Given the description of an element on the screen output the (x, y) to click on. 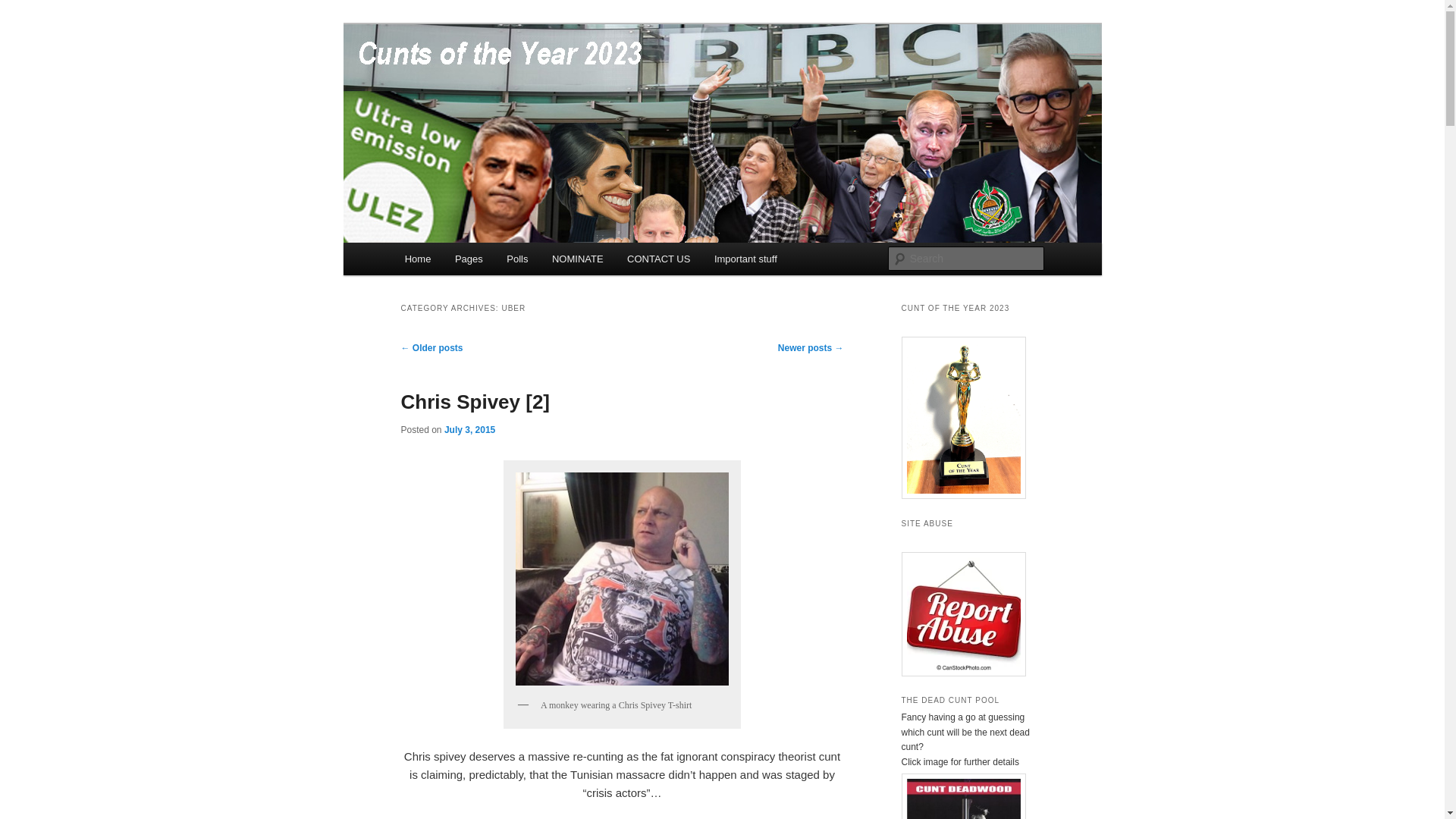
July 3, 2015 (469, 429)
Home (417, 258)
CONTACT US (657, 258)
Polls (517, 258)
Pages (468, 258)
Important stuff (745, 258)
NOMINATE (577, 258)
Search (24, 8)
